Given the description of an element on the screen output the (x, y) to click on. 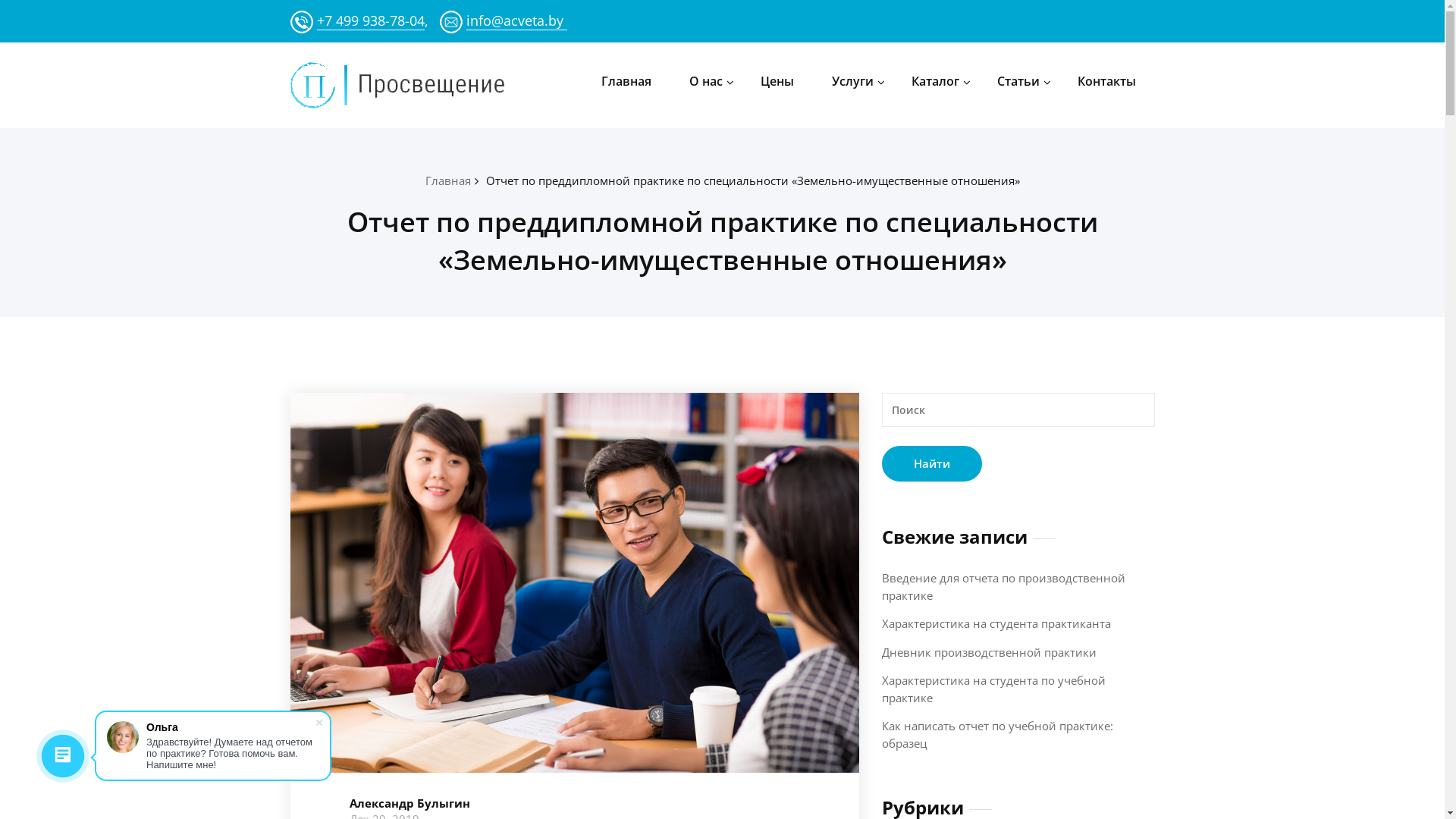
info@acveta.by  Element type: text (515, 20)
+7 499 938-78-04 Element type: text (370, 20)
